Given the description of an element on the screen output the (x, y) to click on. 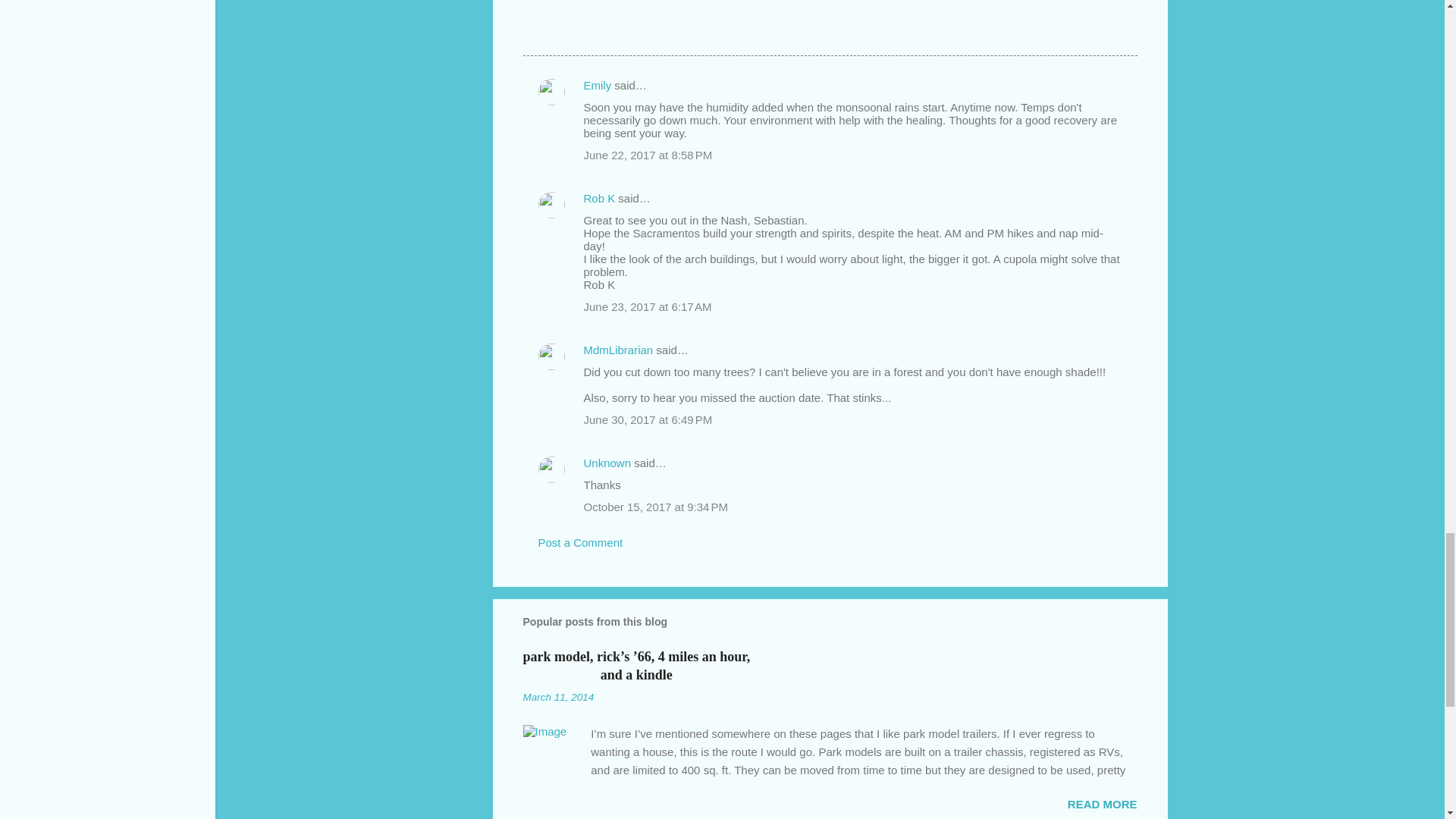
March 11, 2014 (558, 696)
MdmLibrarian (618, 349)
comment permalink (648, 154)
Post a Comment (580, 542)
Unknown (607, 462)
READ MORE (1102, 803)
Emily (597, 84)
